Given the description of an element on the screen output the (x, y) to click on. 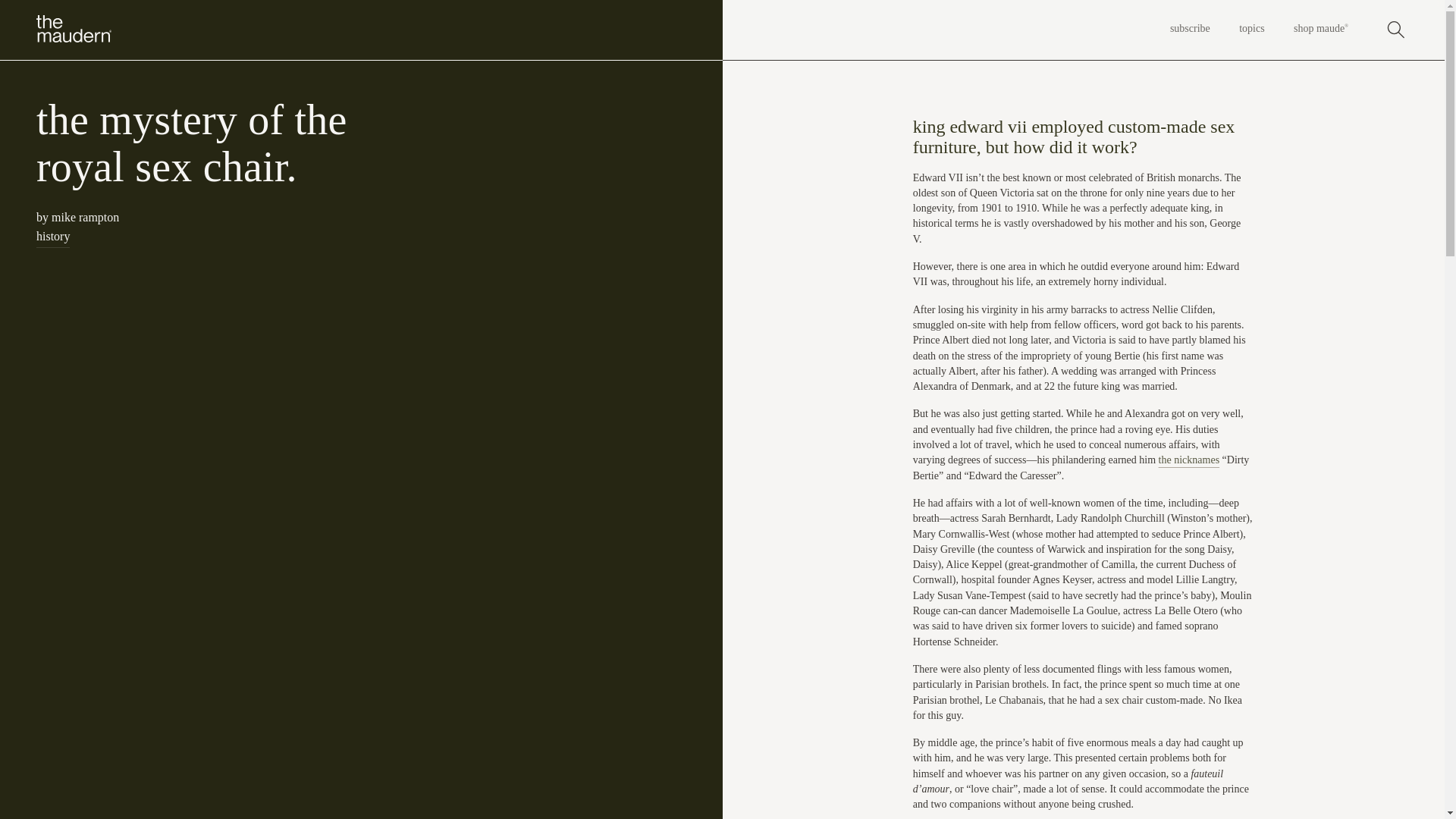
the nicknames (1189, 460)
subscribe (1190, 29)
Skip to content (21, 4)
history (52, 235)
